Given the description of an element on the screen output the (x, y) to click on. 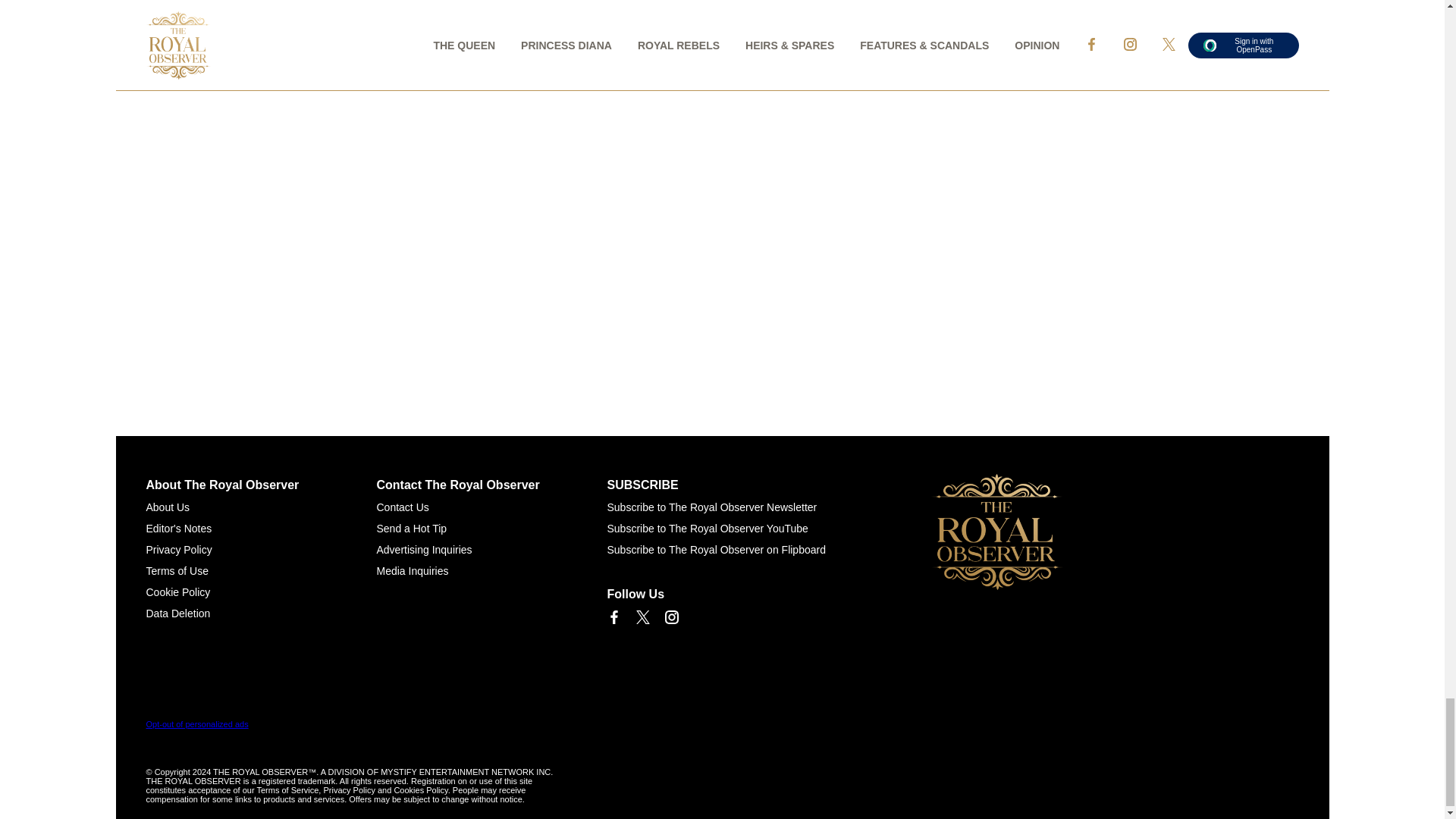
Link to Instagram (670, 617)
About Us (167, 507)
Editor's Notes (178, 528)
Link to Facebook (613, 617)
Privacy Policy (178, 549)
Link to X (641, 617)
